Given the description of an element on the screen output the (x, y) to click on. 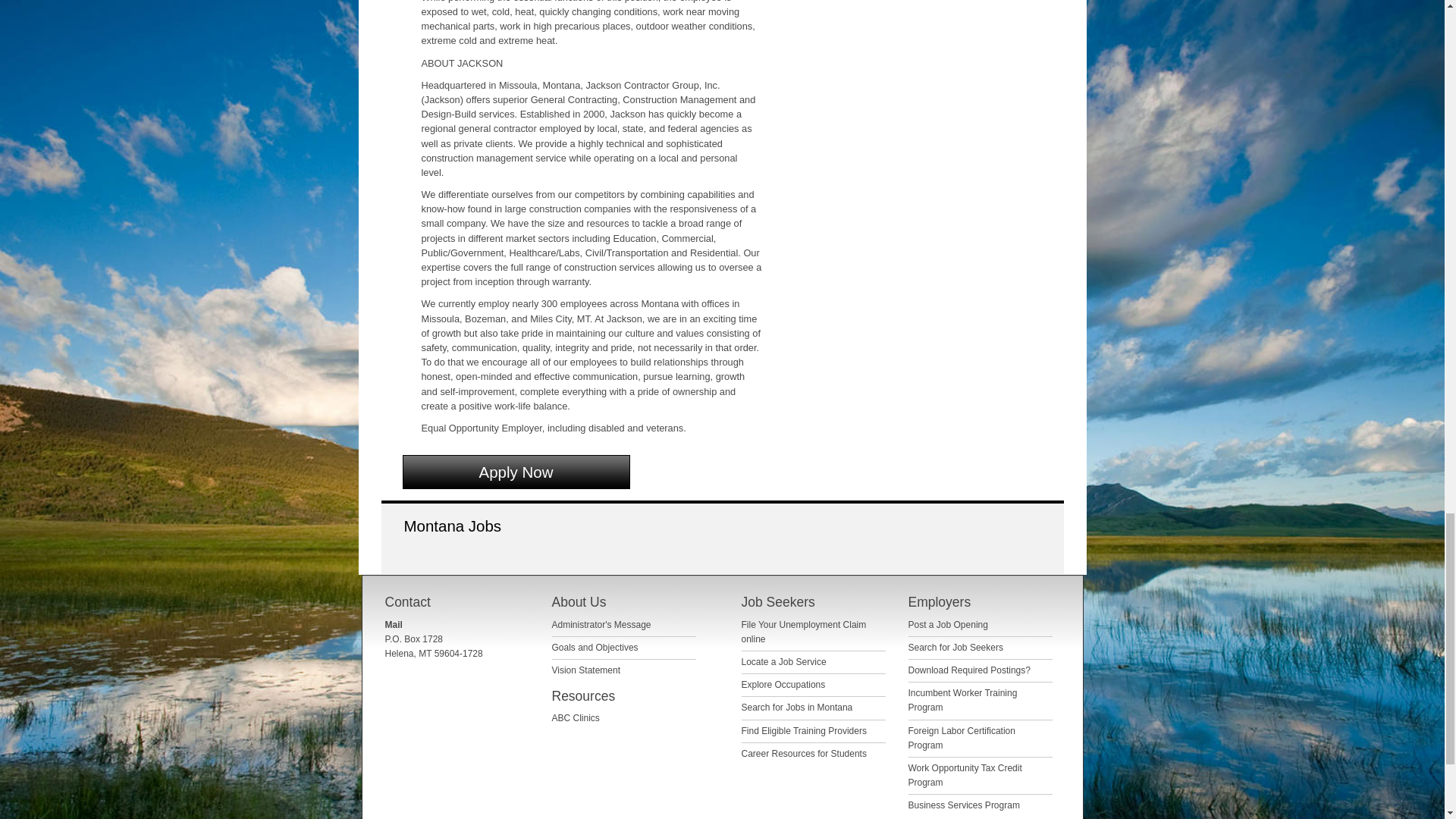
Career Resources for Students (803, 753)
ABC Clinics (575, 717)
Post a Job Opening (948, 624)
Find Eligible Training Providers (803, 730)
Search for Job Seekers (955, 647)
Business Services Program (964, 805)
Search for Jobs in Montana (797, 706)
File Your Unemployment Claim online (803, 631)
Work Opportunity Tax Credit Program (965, 774)
Administrator's Message (600, 624)
Apply Now (514, 471)
Locate a Job Service (784, 661)
Goals and Objectives (595, 647)
Download Required Postings? (969, 670)
Foreign Labor Certification Program (961, 738)
